Given the description of an element on the screen output the (x, y) to click on. 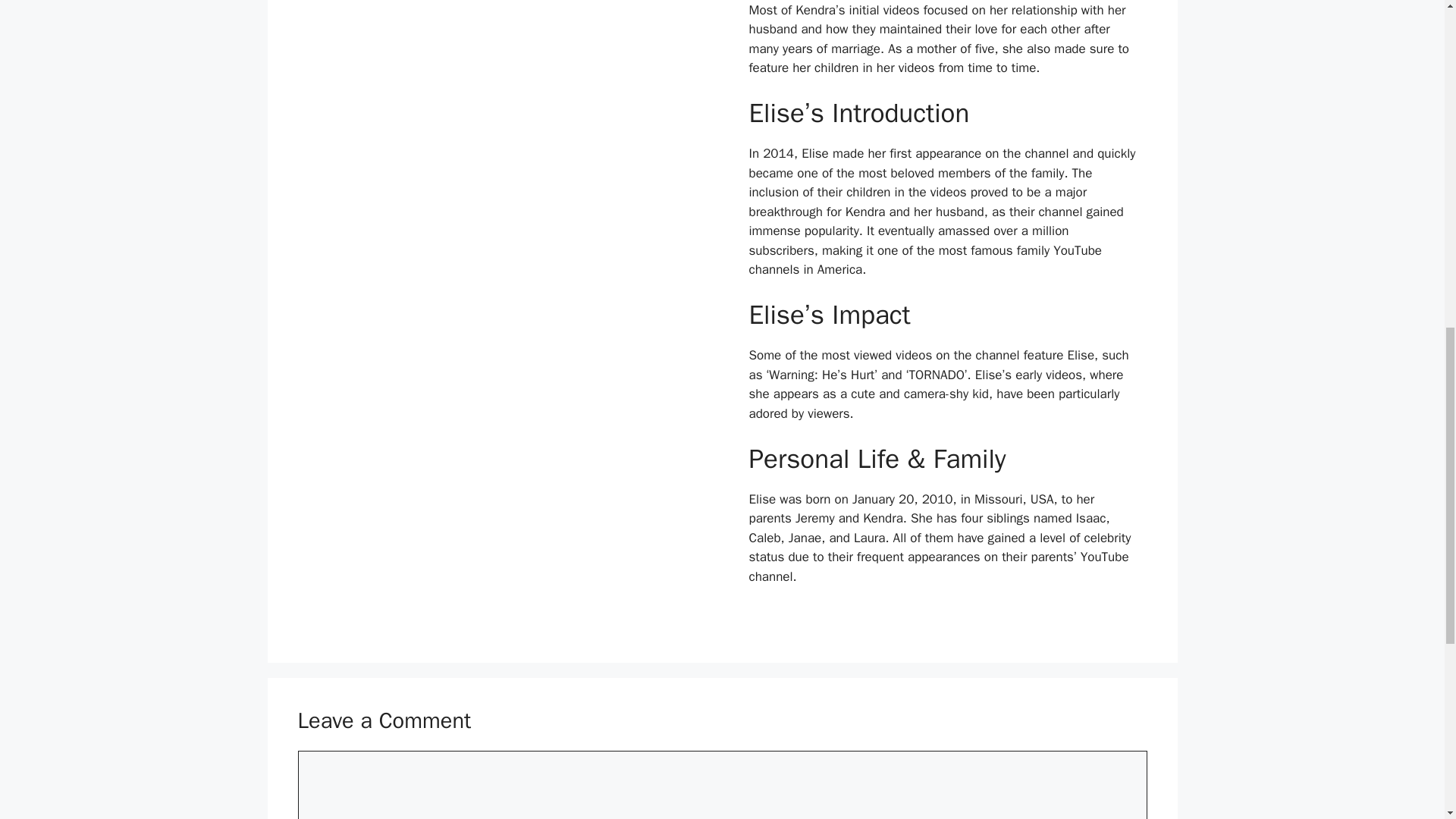
YouTube video player (501, 60)
